Given the description of an element on the screen output the (x, y) to click on. 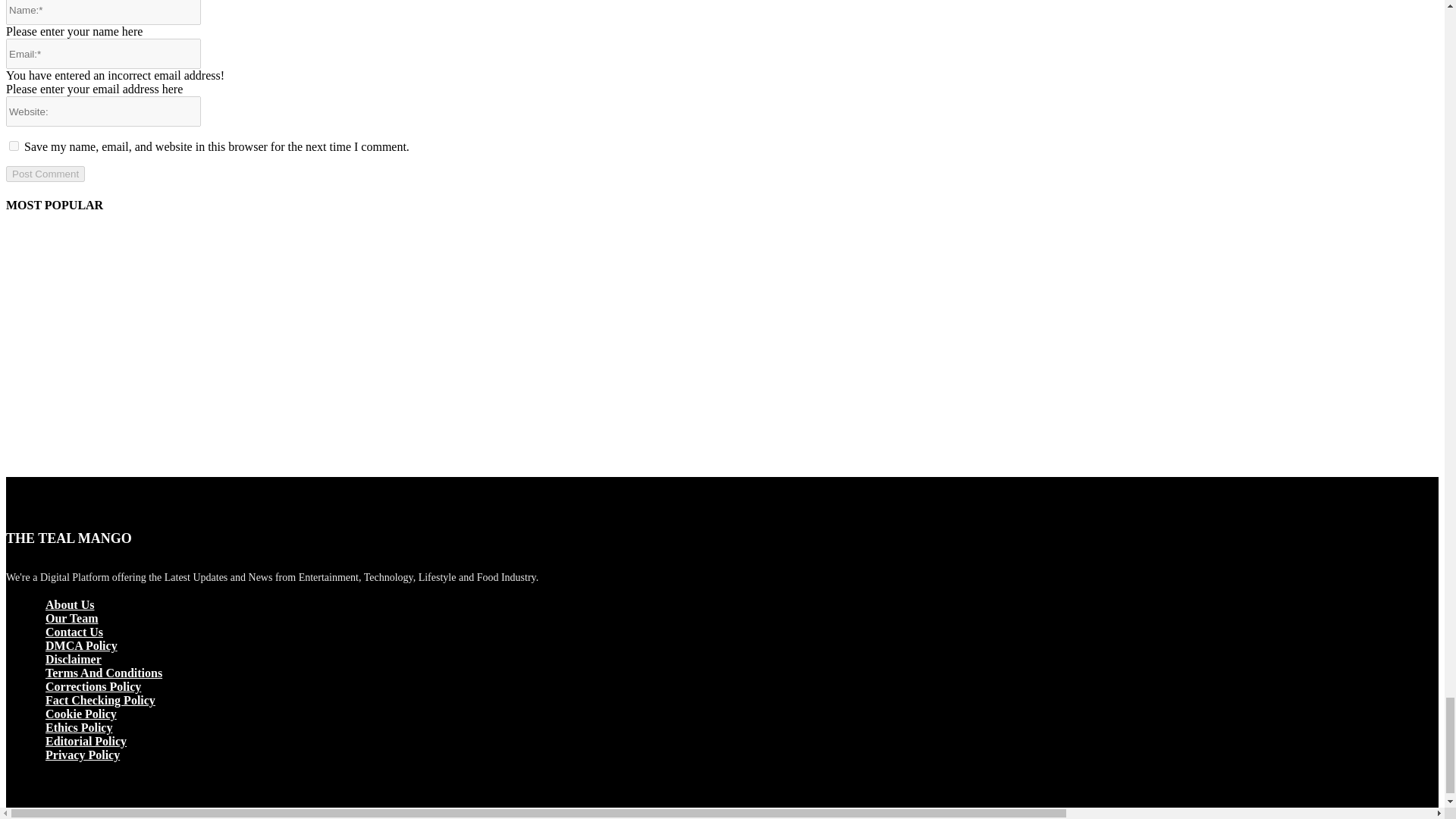
yes (13, 145)
Post Comment (44, 173)
